Given the description of an element on the screen output the (x, y) to click on. 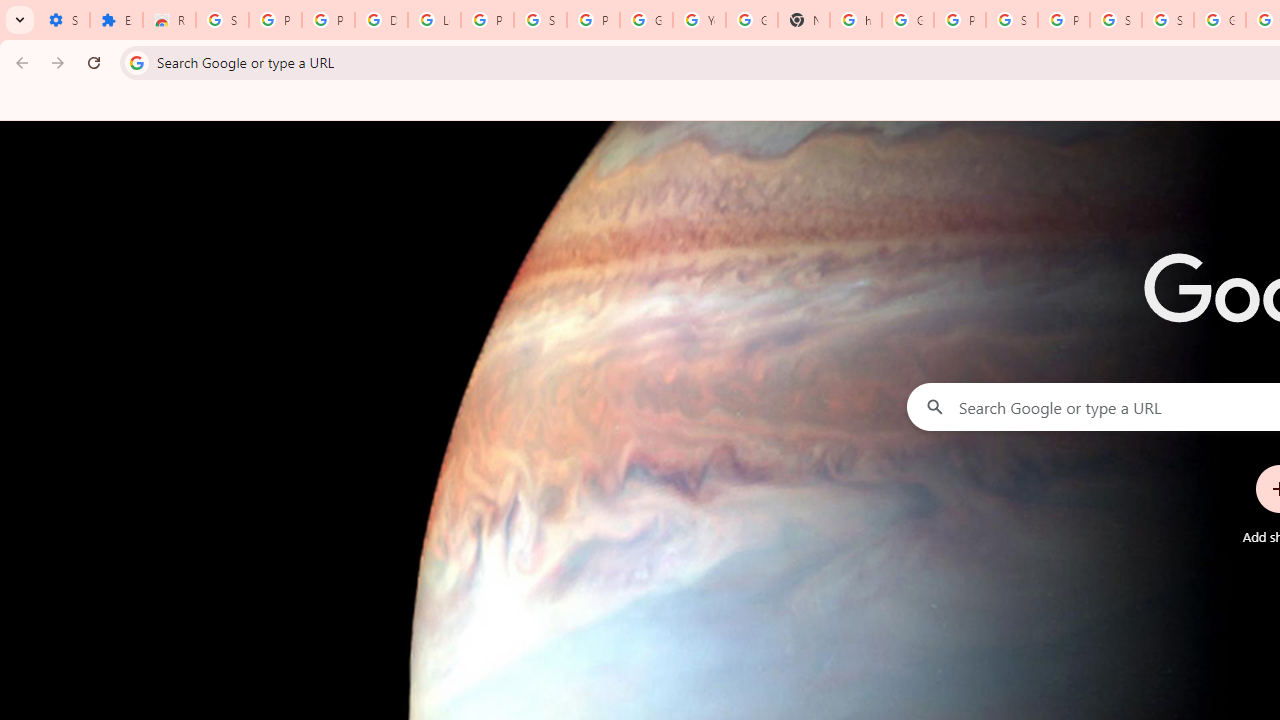
YouTube (699, 20)
Sign in - Google Accounts (1115, 20)
Settings - On startup (63, 20)
https://scholar.google.com/ (855, 20)
Sign in - Google Accounts (1167, 20)
Delete photos & videos - Computer - Google Photos Help (381, 20)
Sign in - Google Accounts (222, 20)
Learn how to find your photos - Google Photos Help (434, 20)
Google Account (646, 20)
